Given the description of an element on the screen output the (x, y) to click on. 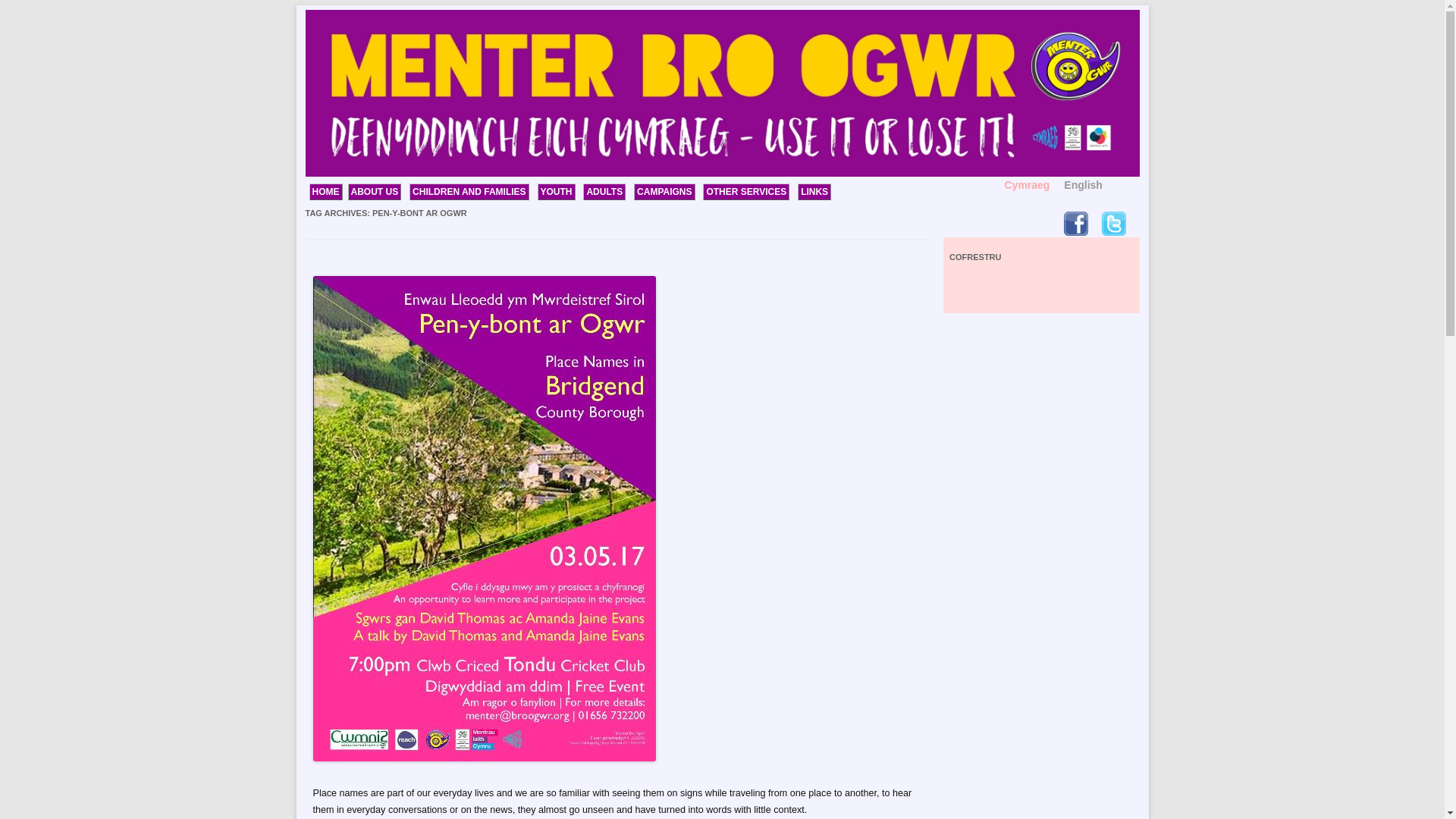
Menter Bro Ogwr (378, 21)
LINKS (814, 191)
Skip to content (1173, 23)
HOME (325, 191)
YOUTH (556, 191)
Skip to content (1173, 23)
Menter Bro Ogwr (378, 21)
CAMPAIGNS (663, 191)
OTHER SERVICES (746, 191)
ABOUT US (374, 191)
Cymraeg (1026, 184)
English (1083, 184)
CHILDREN AND FAMILIES (469, 191)
ADULTS (604, 191)
